Given the description of an element on the screen output the (x, y) to click on. 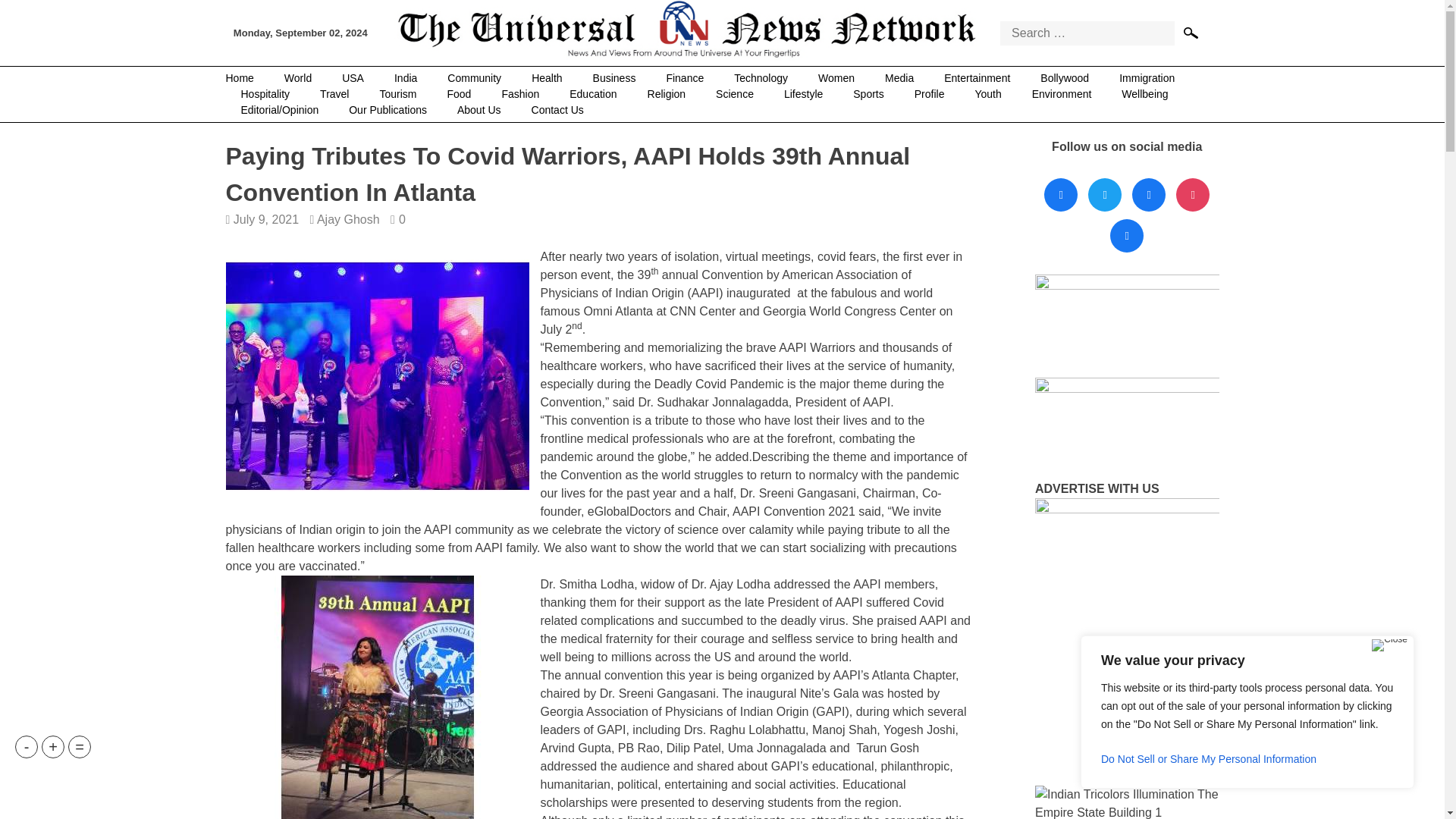
Bollywood (1064, 78)
World (297, 78)
Search for: (1087, 33)
Wellbeing (1144, 94)
Immigration (1146, 78)
Media (898, 78)
Youth (987, 94)
Education (592, 94)
Facebook (1061, 194)
Technology (761, 78)
